Given the description of an element on the screen output the (x, y) to click on. 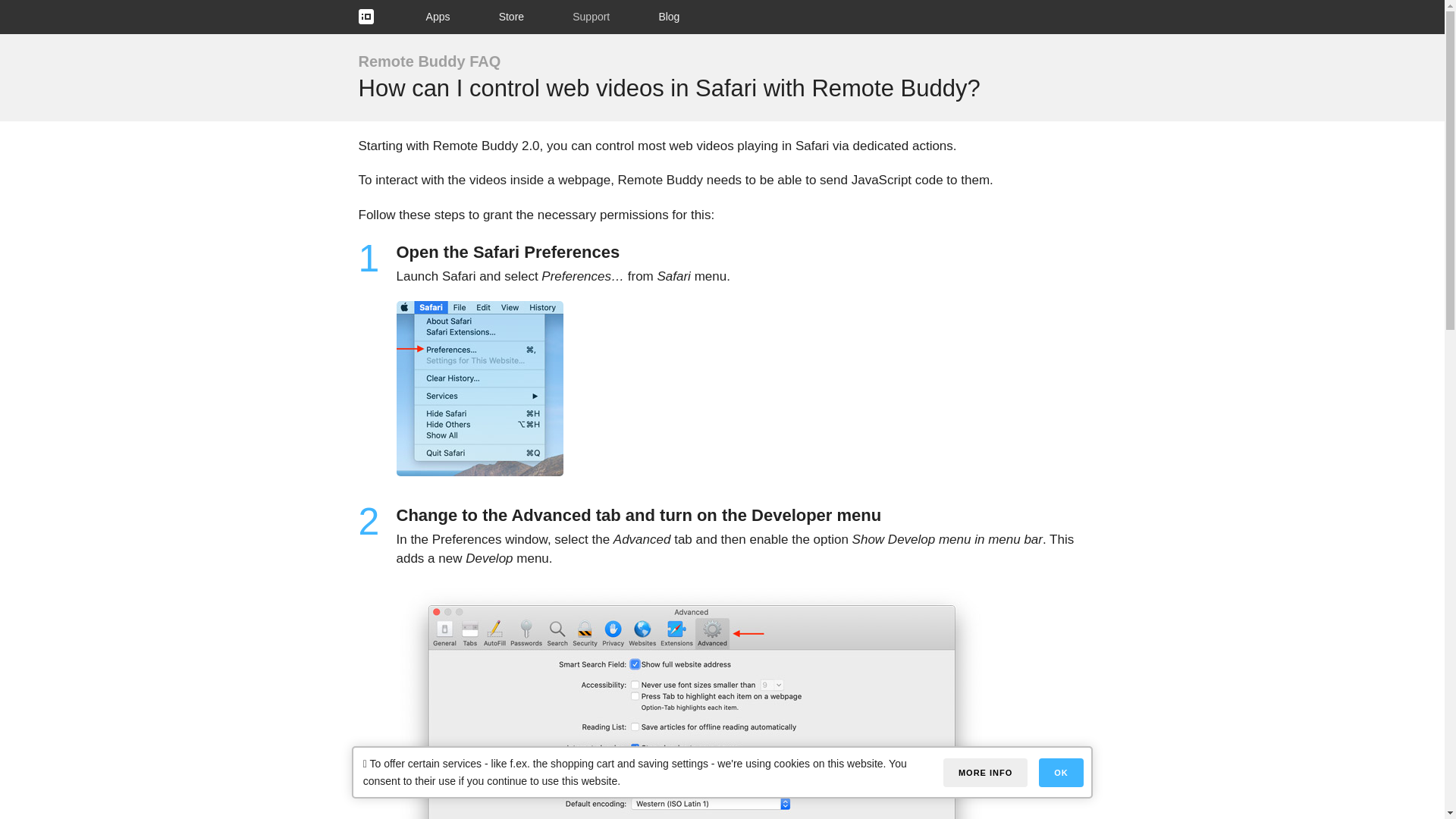
Remote Buddy FAQ (429, 61)
Support (591, 16)
OK (1061, 772)
Apps (437, 16)
MORE INFO (985, 772)
Store (511, 16)
Blog (668, 16)
